Given the description of an element on the screen output the (x, y) to click on. 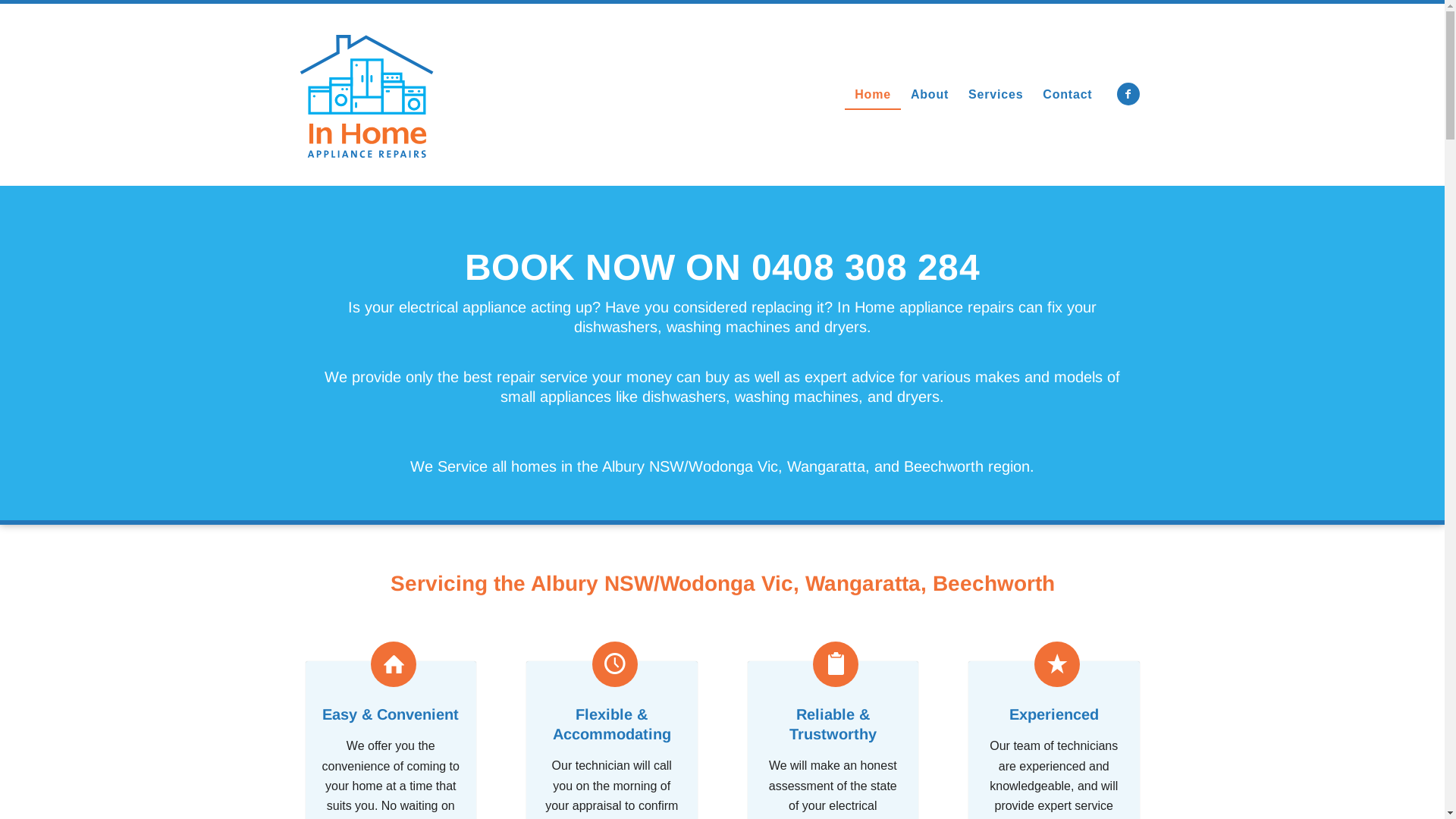
About Element type: text (929, 94)
Home Element type: text (872, 94)
0408 308 284 Element type: text (864, 267)
Contact Element type: text (1066, 94)
Facebook Element type: hover (1127, 93)
Services Element type: text (995, 94)
